Given the description of an element on the screen output the (x, y) to click on. 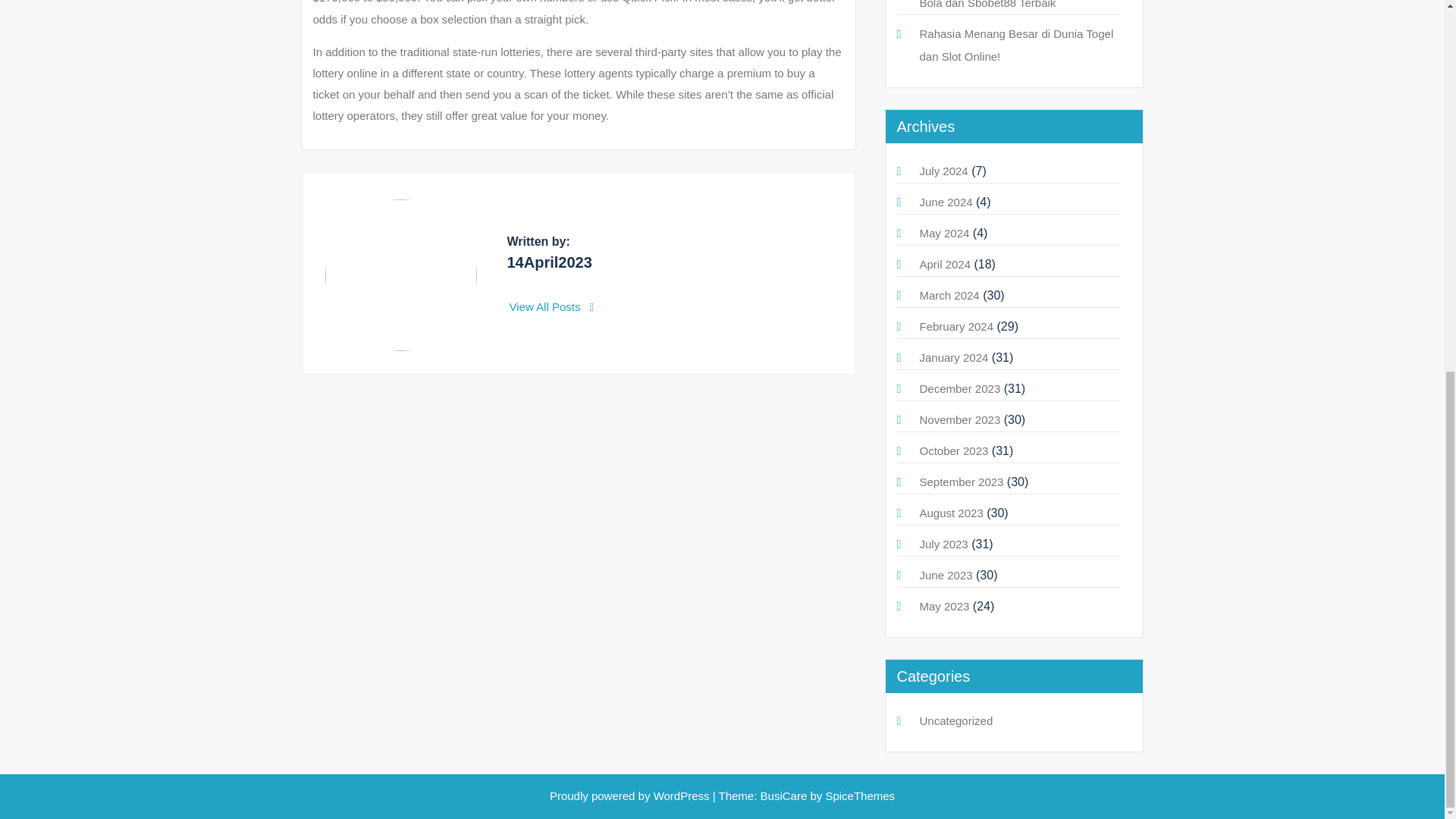
BusiCare (785, 795)
January 2024 (953, 357)
September 2023 (960, 481)
November 2023 (959, 419)
SpiceThemes (858, 795)
December 2023 (959, 388)
August 2023 (950, 512)
May 2023 (943, 605)
Uncategorized (955, 720)
July 2023 (943, 543)
View All Posts (551, 306)
June 2023 (945, 574)
April 2024 (944, 264)
May 2024 (943, 232)
WordPress (681, 795)
